Given the description of an element on the screen output the (x, y) to click on. 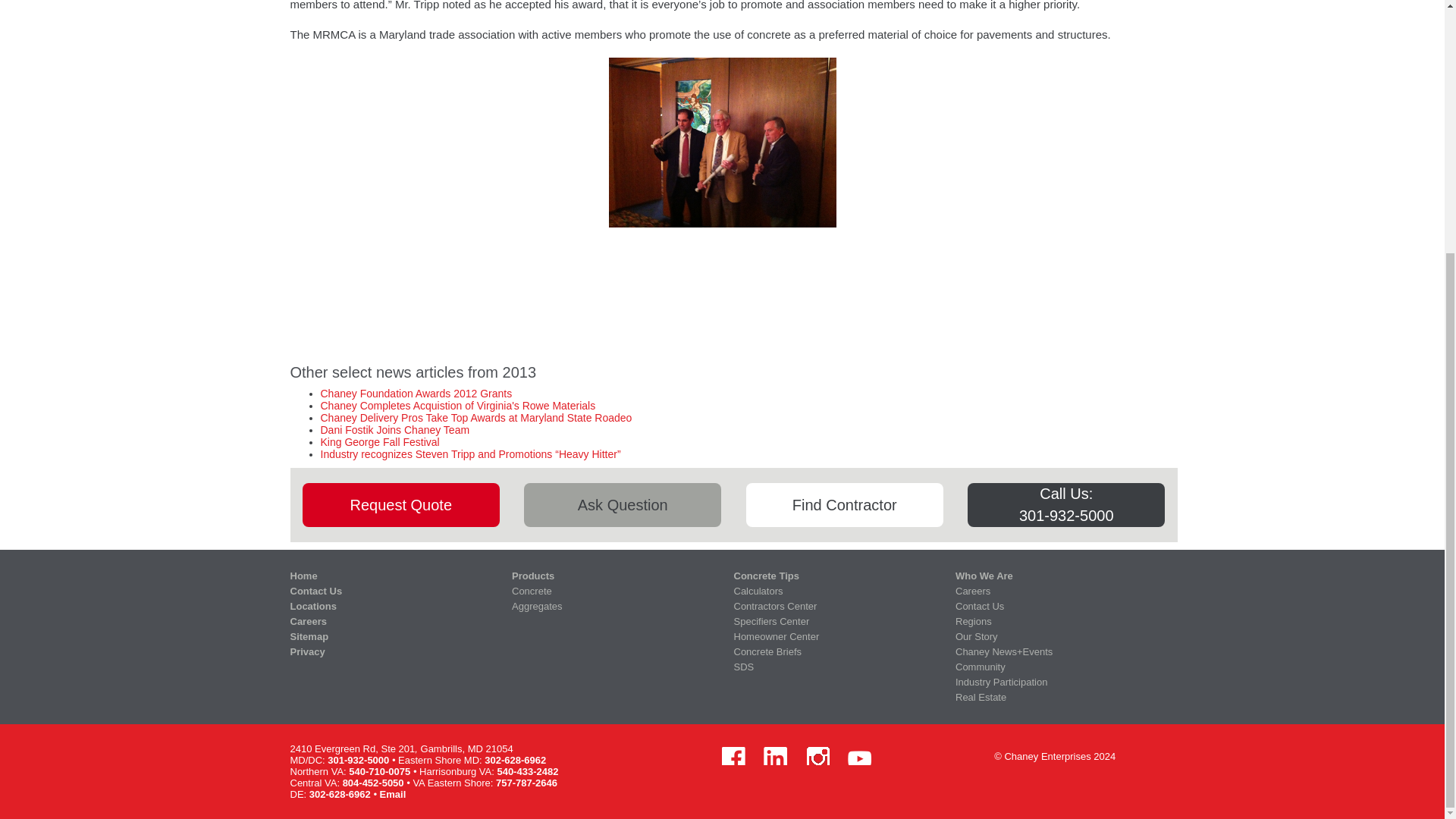
Chaney Enterprises on Facebook (732, 758)
Chaney Enterprises on Instagram (817, 758)
Dani Fostik Joins Chaney Team (394, 429)
Chaney Enterprises on LinkedIn (774, 758)
King George Fall Festival (379, 441)
Chaney Completes Acquistion of Virginia's Rowe Materials (457, 405)
Chaney Enterprises on YouTube (858, 758)
Chaney Foundation Awards 2012 Grants (416, 393)
